Given the description of an element on the screen output the (x, y) to click on. 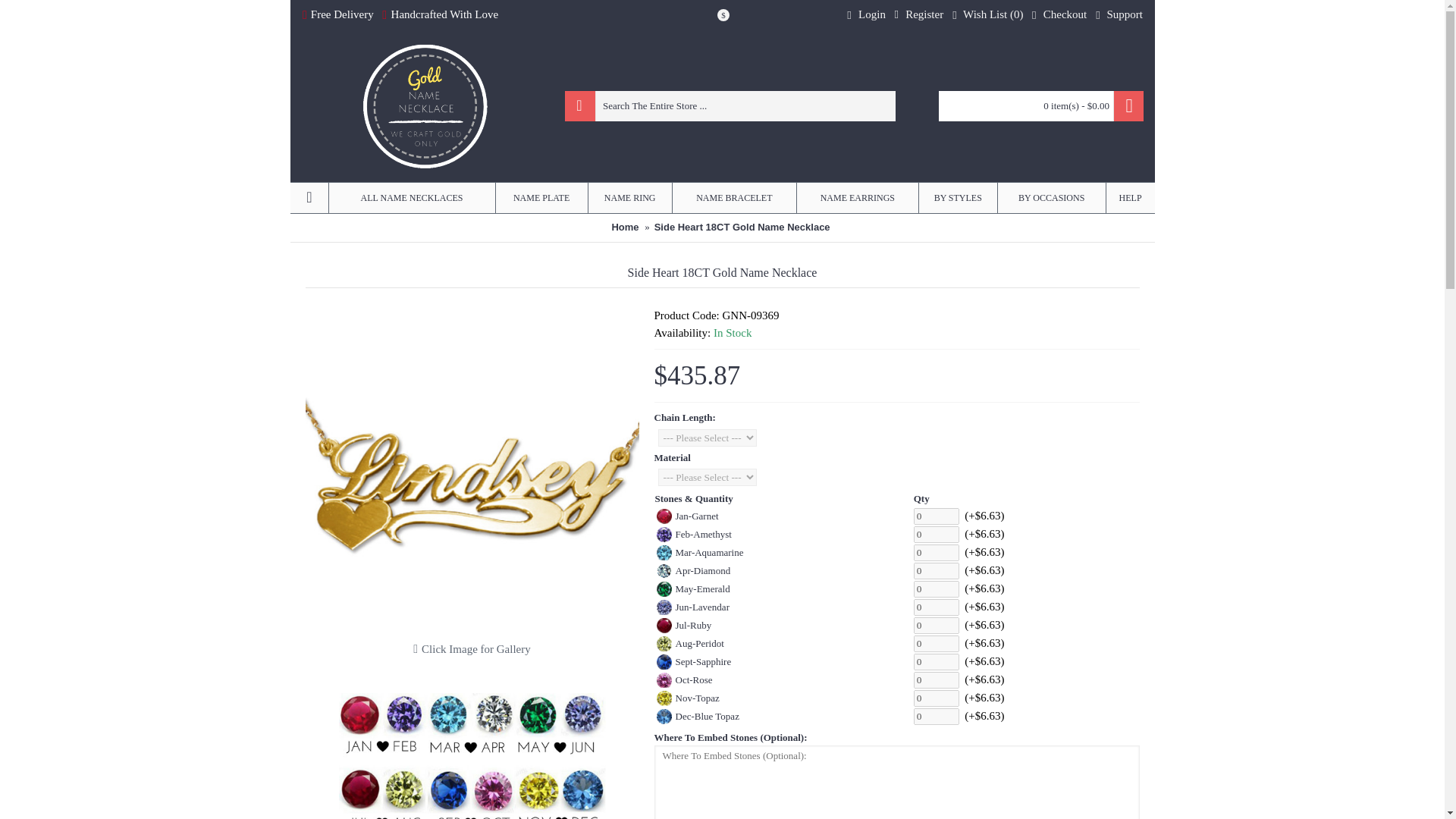
0 (936, 588)
Side Heart 18CT Gold Name Necklace (471, 470)
NAME RING (629, 197)
0 (936, 552)
0 (936, 570)
0 (936, 606)
Login (866, 15)
NAME PLATE (542, 197)
Support (1118, 15)
0 (936, 515)
0 (936, 679)
0 (936, 698)
0 (936, 534)
Checkout (1058, 15)
Register (918, 15)
